Given the description of an element on the screen output the (x, y) to click on. 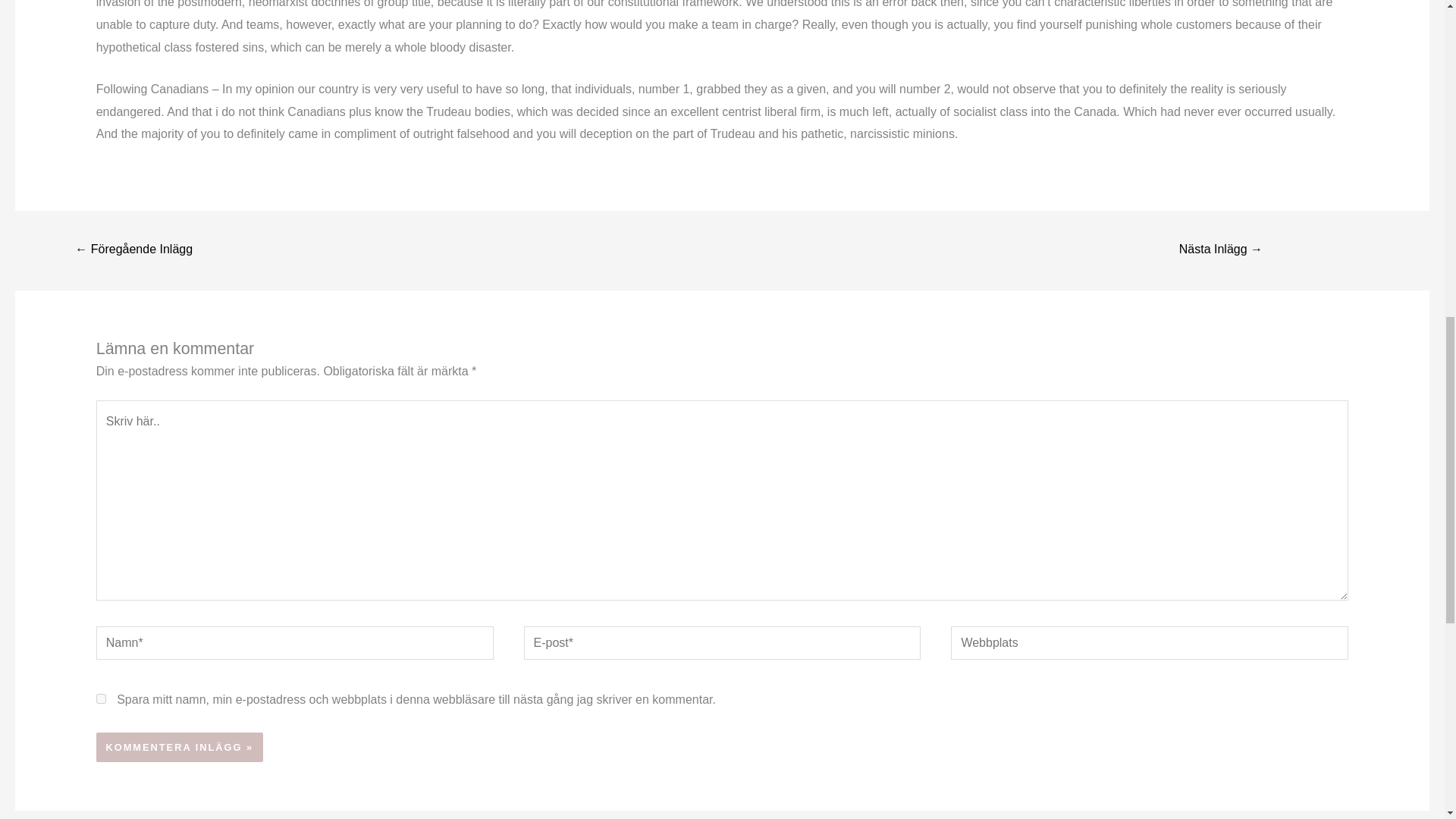
Fribourg Mum Sexkontakte As part of Brig Glis Sie Sucht ihn (133, 250)
yes (101, 698)
